Given the description of an element on the screen output the (x, y) to click on. 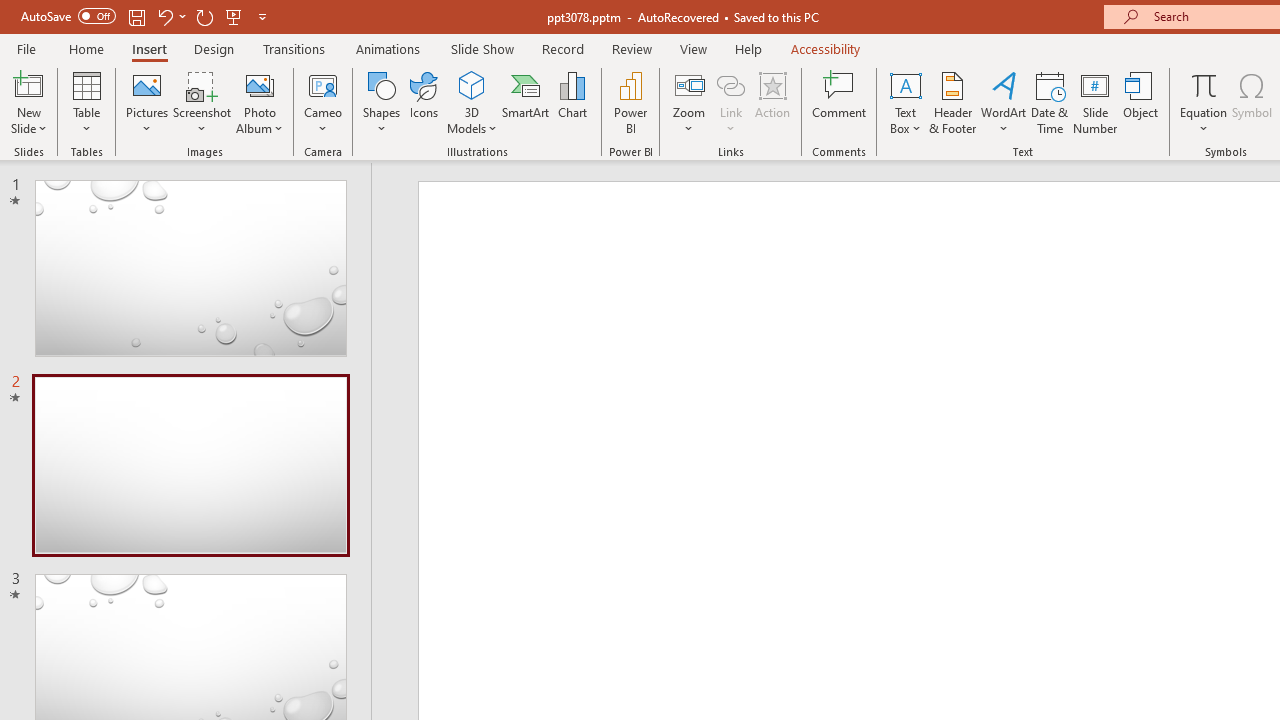
Date & Time... (1050, 102)
Link (731, 102)
New Photo Album... (259, 84)
Comment (839, 102)
Table (86, 102)
Object... (1141, 102)
